Given the description of an element on the screen output the (x, y) to click on. 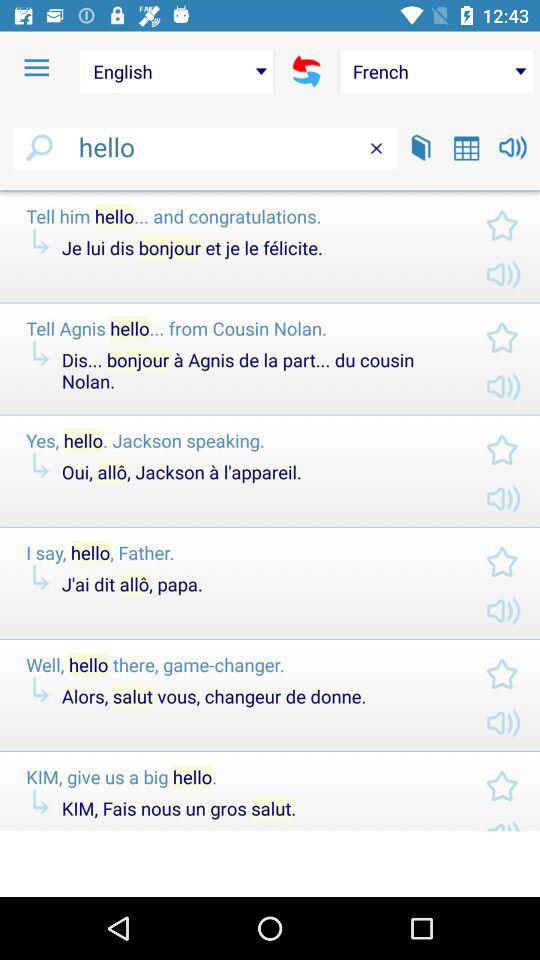
press the item to the left of the english (36, 68)
